Given the description of an element on the screen output the (x, y) to click on. 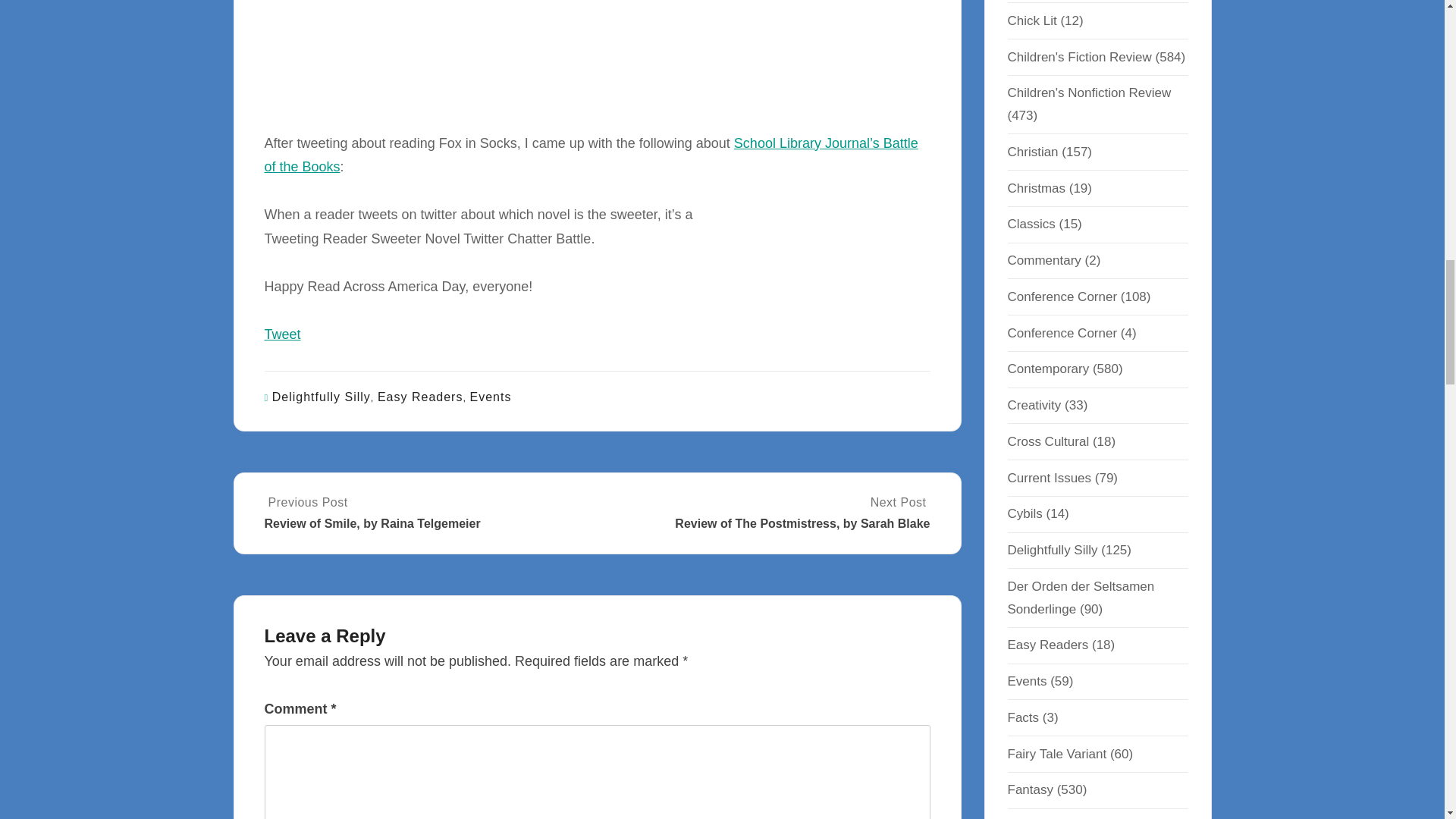
Delightfully Silly (321, 396)
YouTube video player (445, 49)
Tweet (281, 334)
Easy Readers (420, 396)
Events (491, 396)
